Given the description of an element on the screen output the (x, y) to click on. 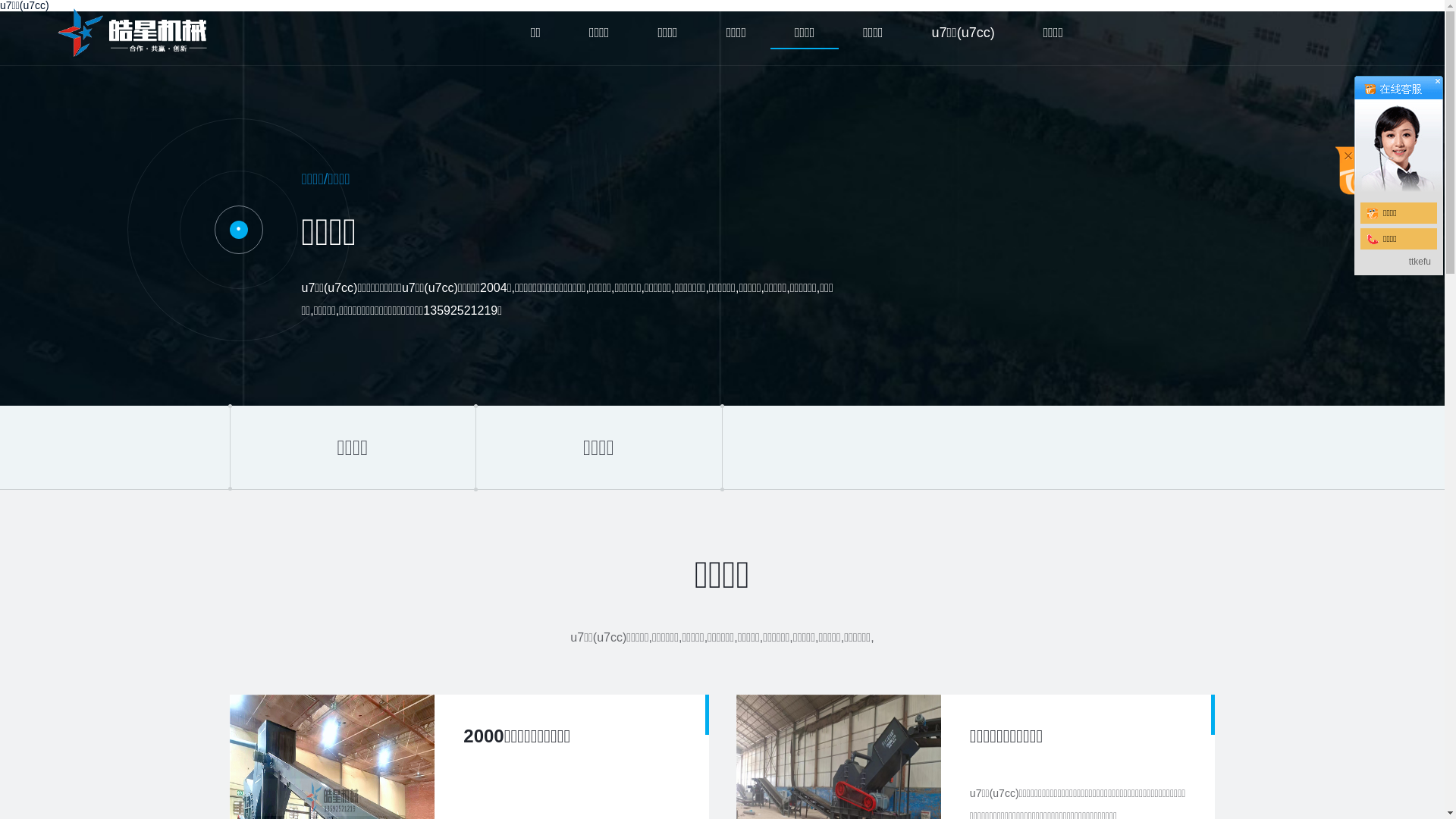
ttkefu Element type: text (1419, 261)
  Element type: text (1398, 133)
